Given the description of an element on the screen output the (x, y) to click on. 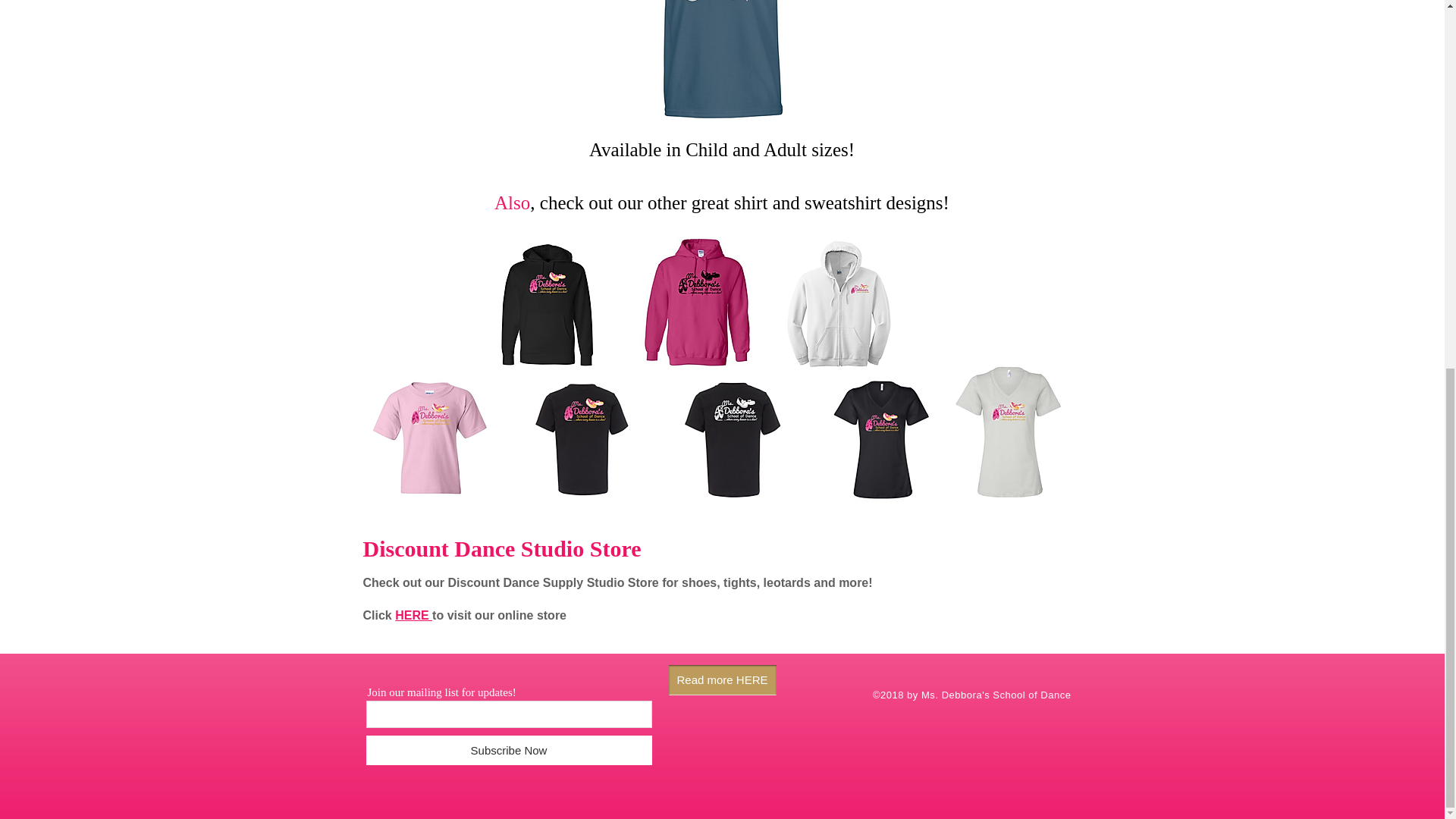
HERE (413, 615)
Subscribe Now (507, 749)
